Given the description of an element on the screen output the (x, y) to click on. 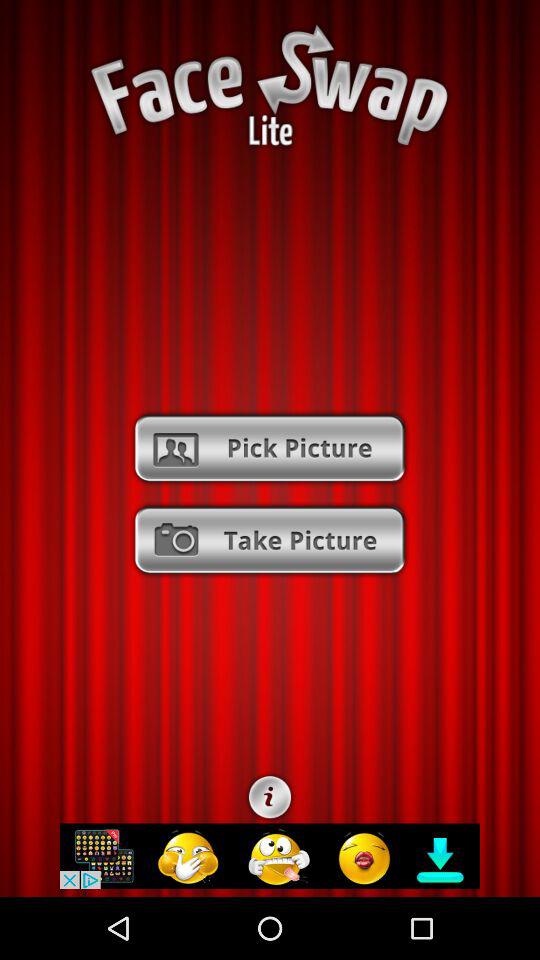
go to customize (269, 797)
